Given the description of an element on the screen output the (x, y) to click on. 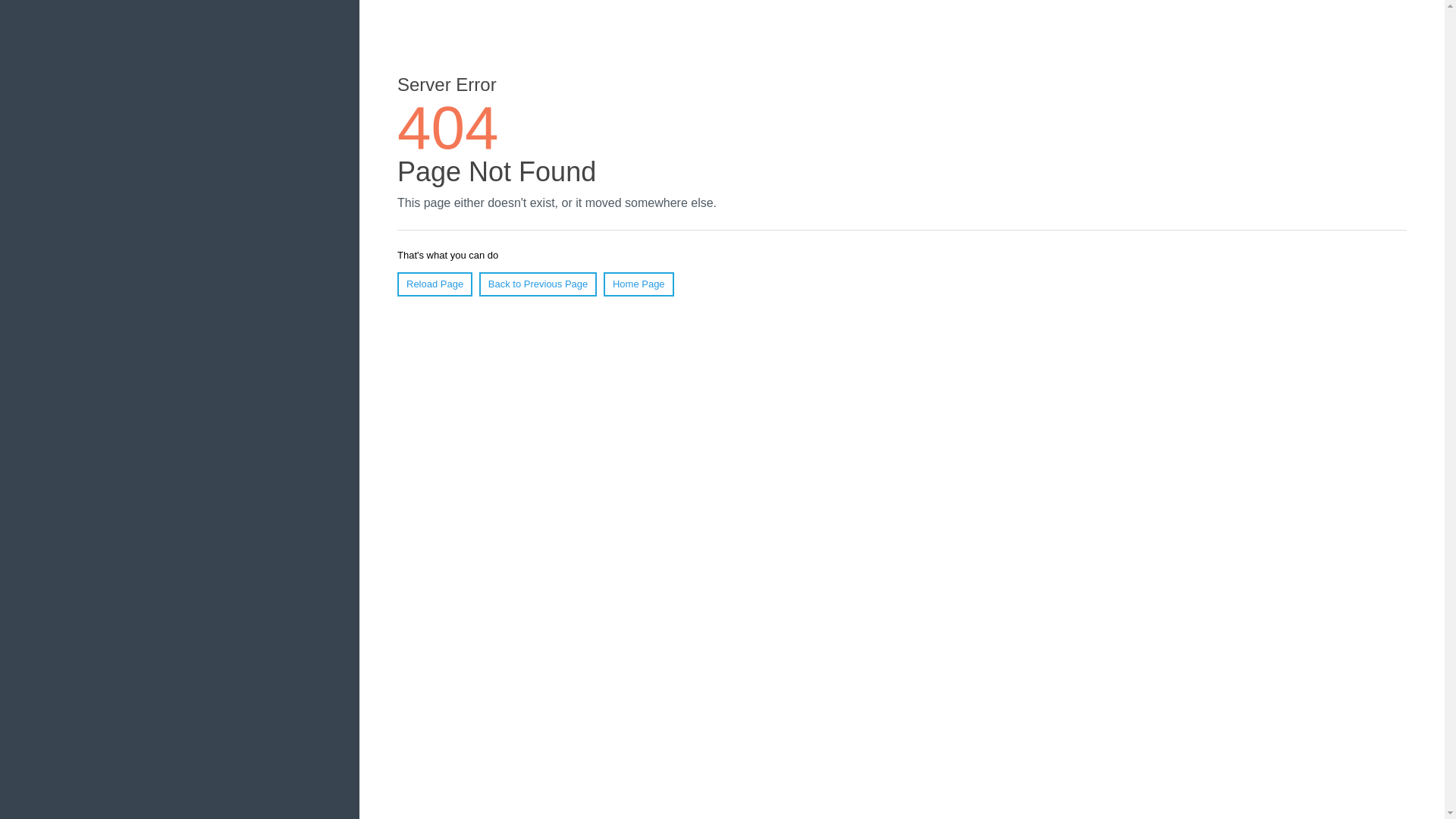
Reload Page (434, 283)
Home Page (639, 283)
Back to Previous Page (537, 283)
